Given the description of an element on the screen output the (x, y) to click on. 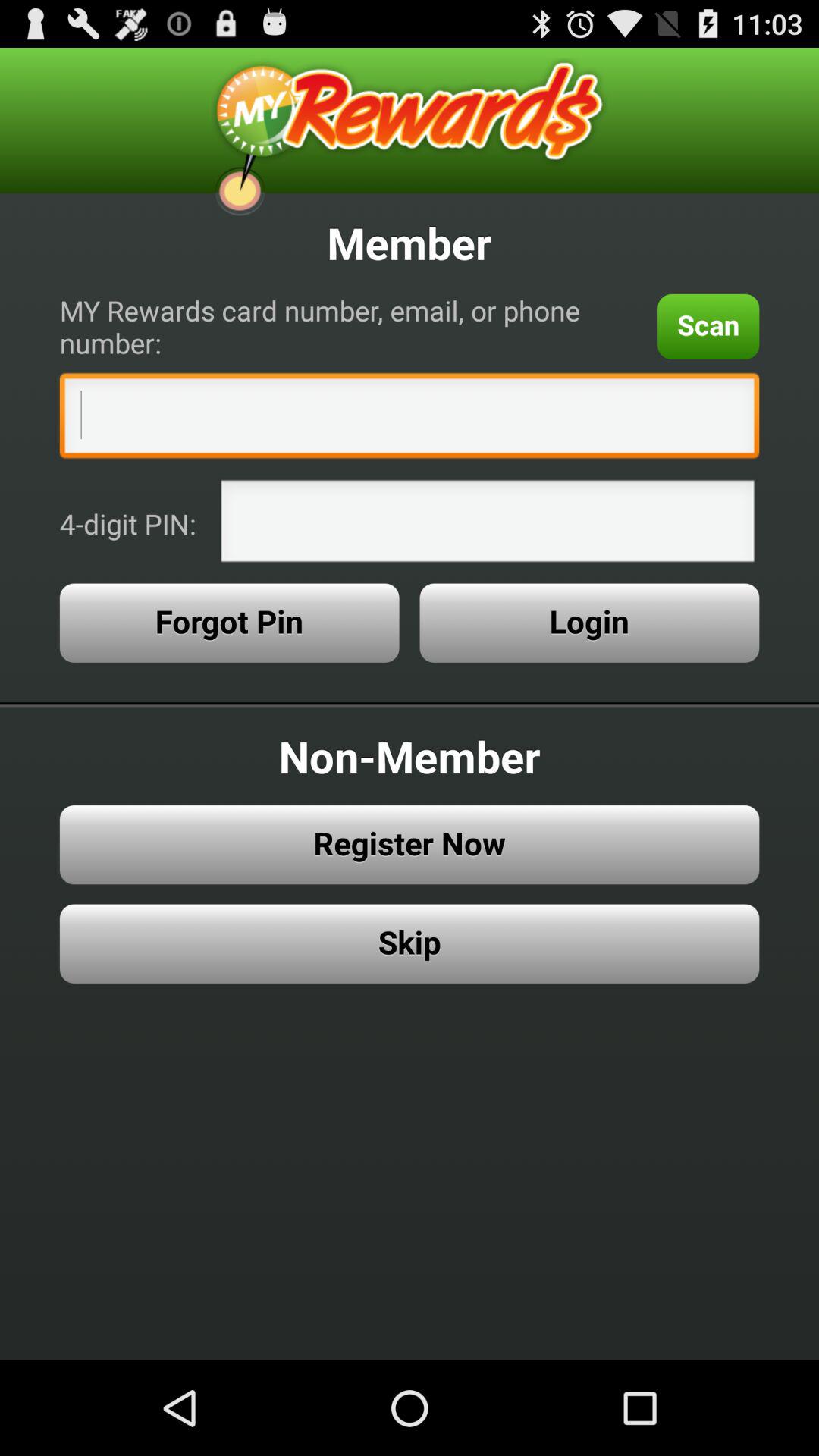
tap the icon next to the my rewards card (708, 326)
